Given the description of an element on the screen output the (x, y) to click on. 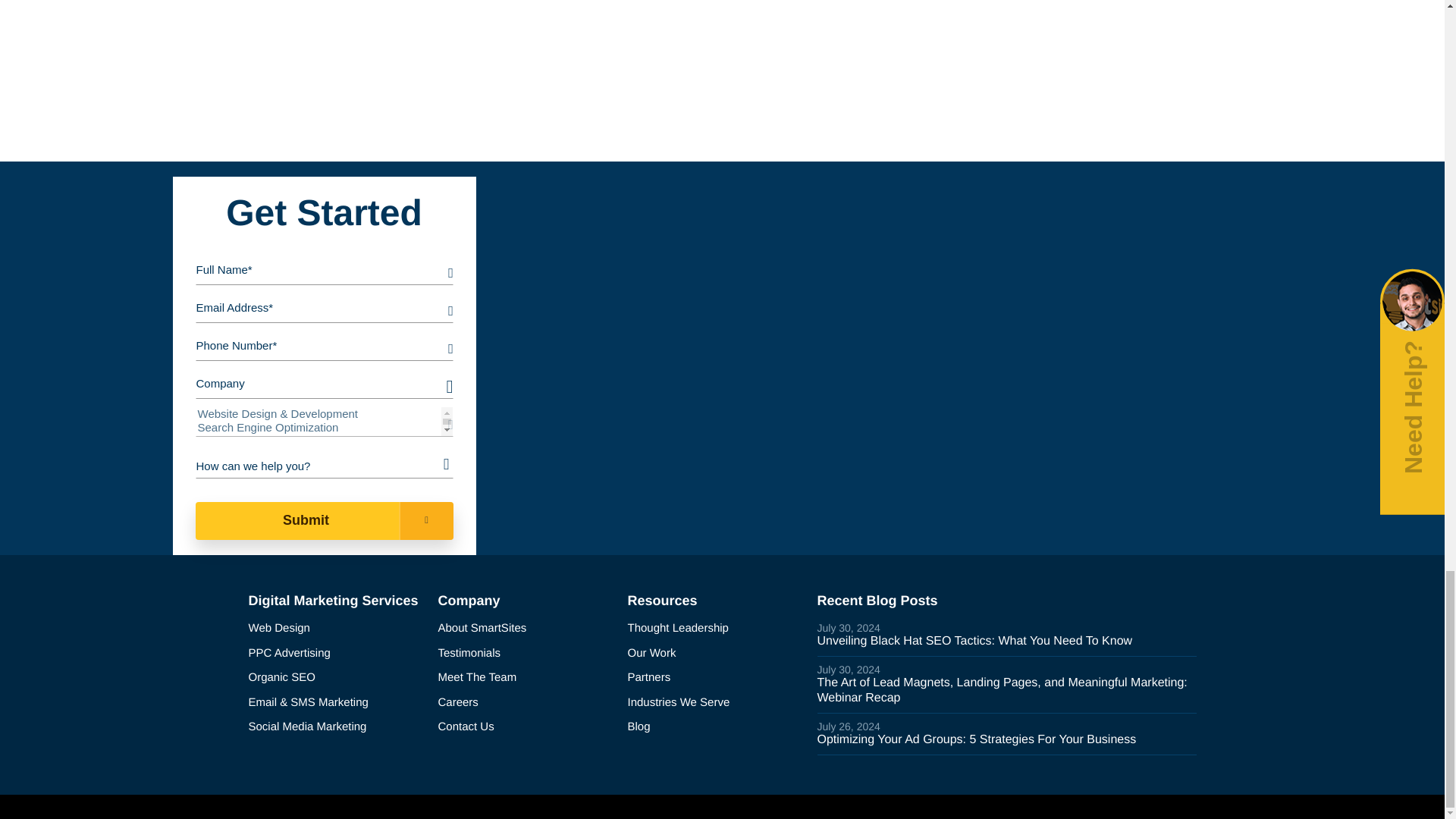
Submit (323, 520)
PPC Advertising (337, 653)
Submit (323, 520)
Web Design (337, 628)
